Given the description of an element on the screen output the (x, y) to click on. 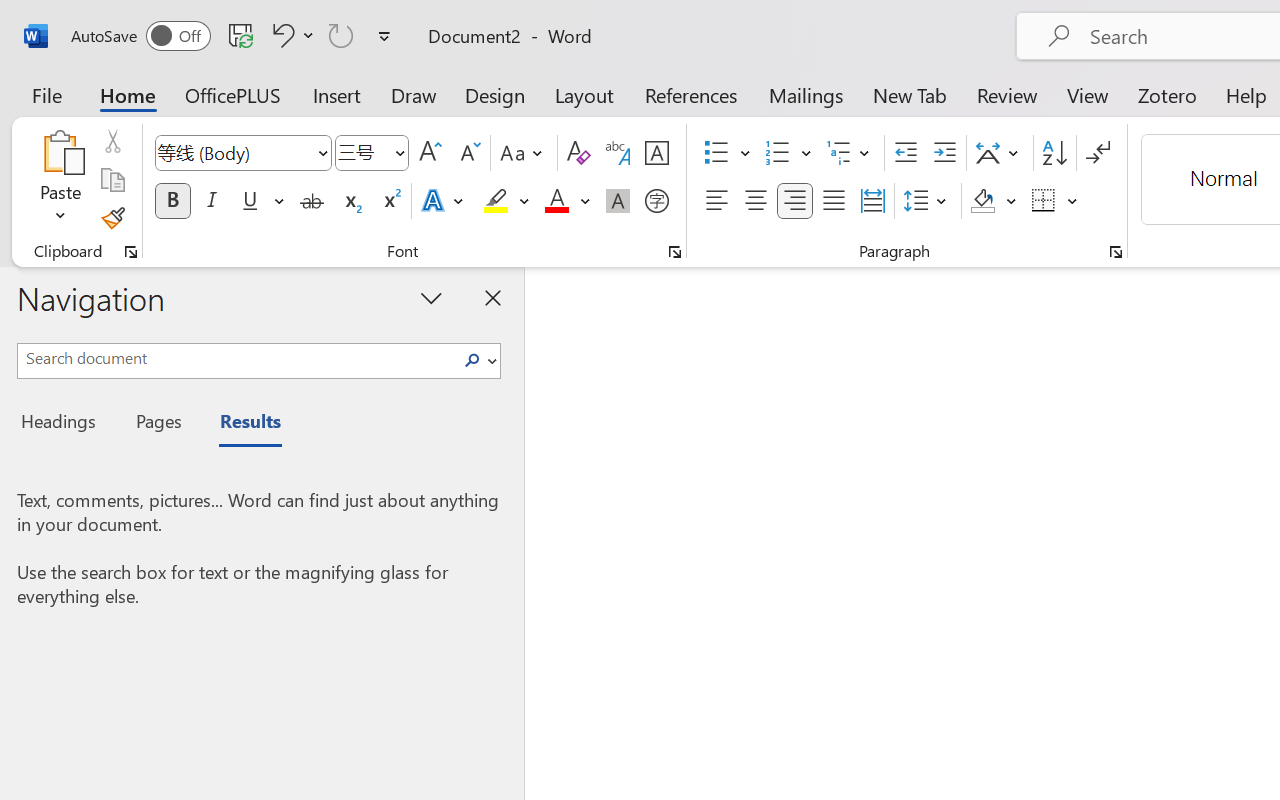
Character Shading (618, 201)
Subscript (350, 201)
Task Pane Options (431, 297)
Grow Font (430, 153)
Home (127, 94)
Headings (64, 424)
Search (471, 360)
New Tab (909, 94)
Undo Paragraph Alignment (280, 35)
Save (241, 35)
Paragraph... (1115, 252)
References (690, 94)
Phonetic Guide... (618, 153)
